Given the description of an element on the screen output the (x, y) to click on. 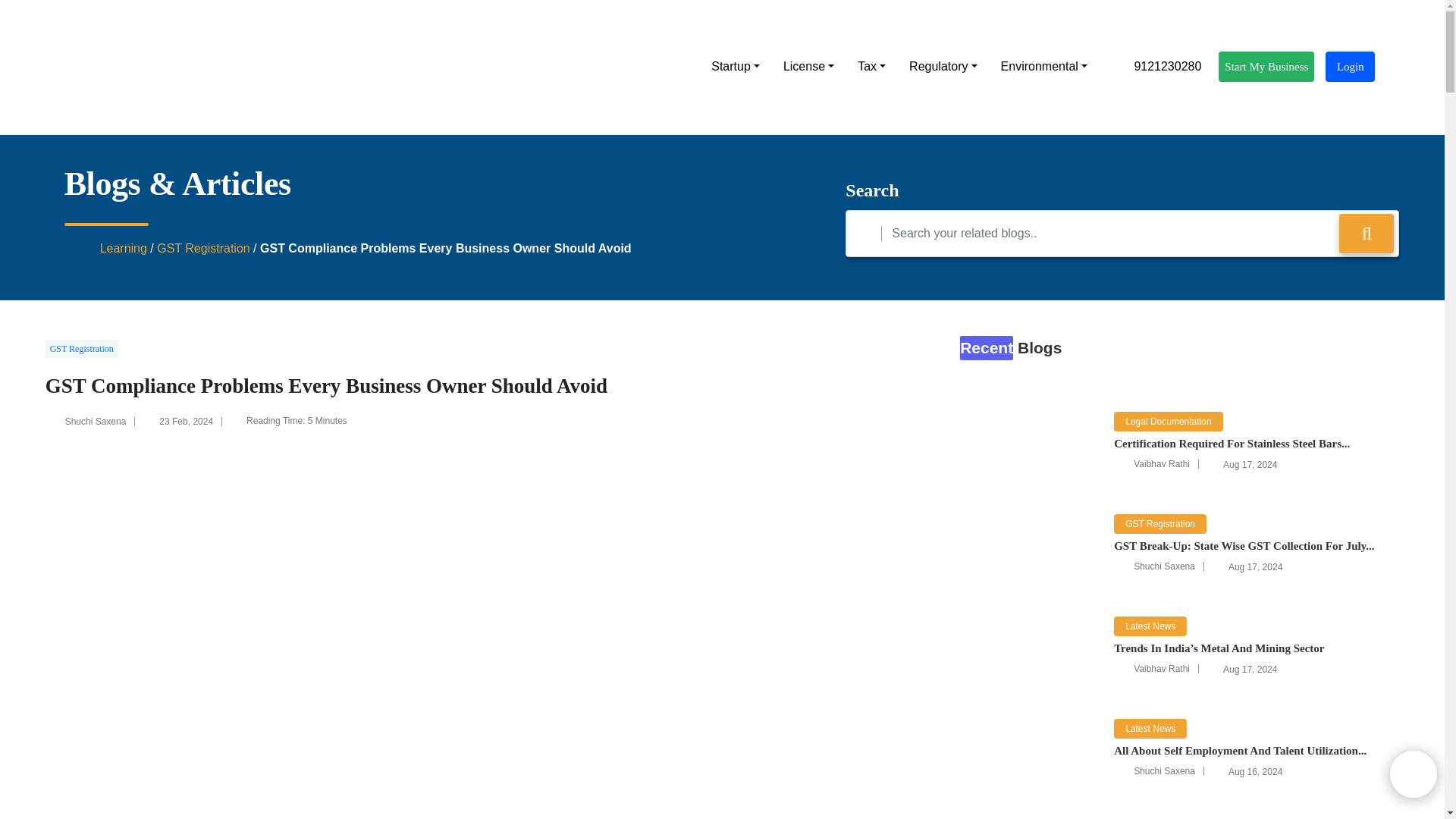
Startup (734, 66)
Posts by Shuchi Saxena (95, 421)
